Given the description of an element on the screen output the (x, y) to click on. 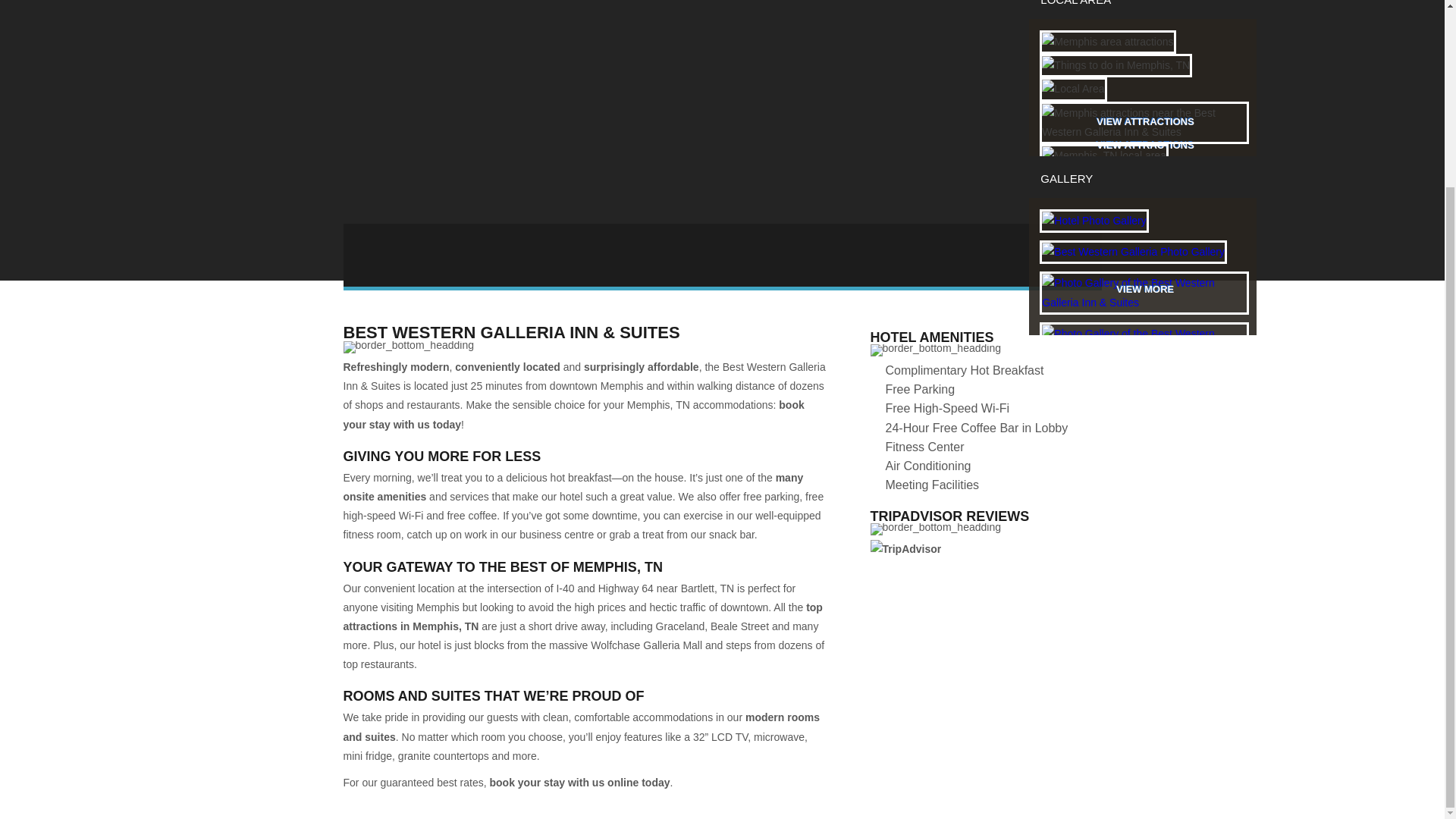
VIEW ATTRACTIONS (1144, 145)
VIEW ATTRACTIONS (1144, 122)
VIEW ATTRACTIONS (1144, 169)
